Given the description of an element on the screen output the (x, y) to click on. 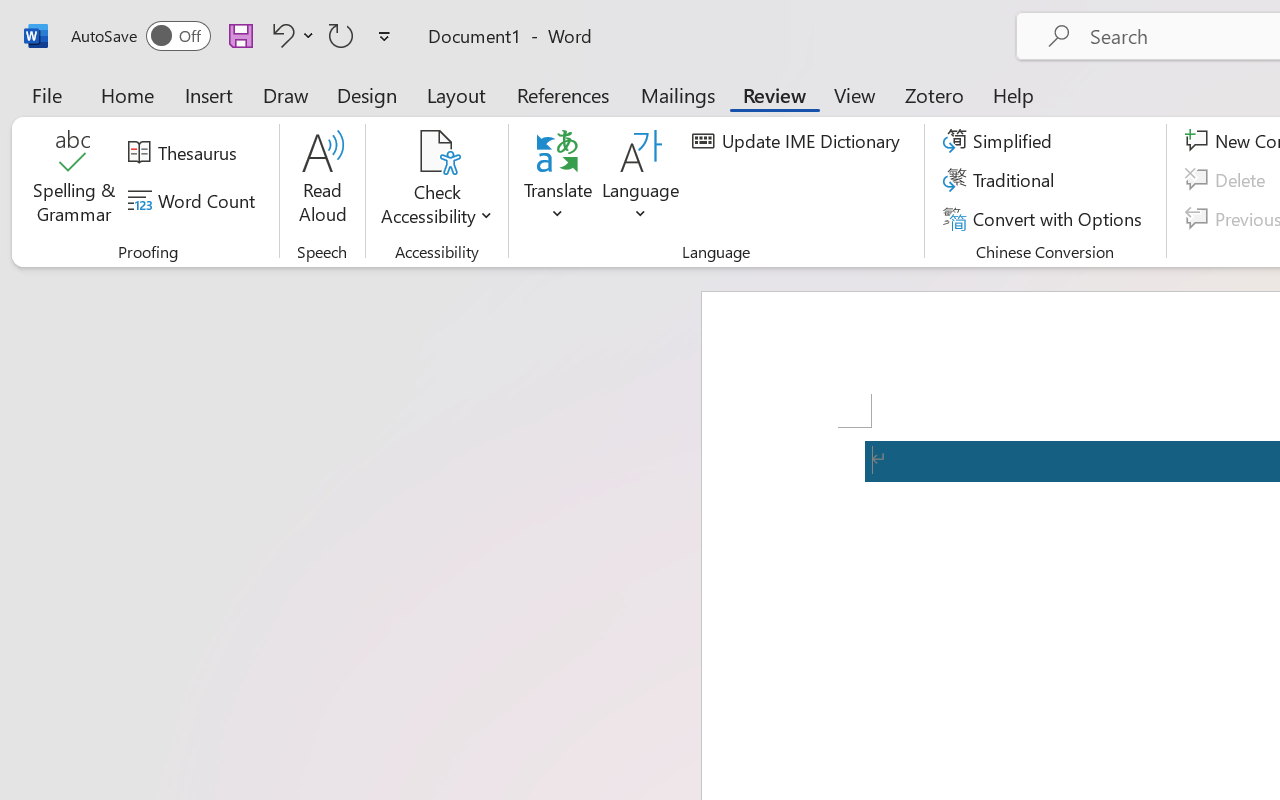
Convert with Options... (1045, 218)
Undo Apply Quick Style Set (290, 35)
Traditional (1001, 179)
Delete (1227, 179)
Check Accessibility (436, 179)
